Given the description of an element on the screen output the (x, y) to click on. 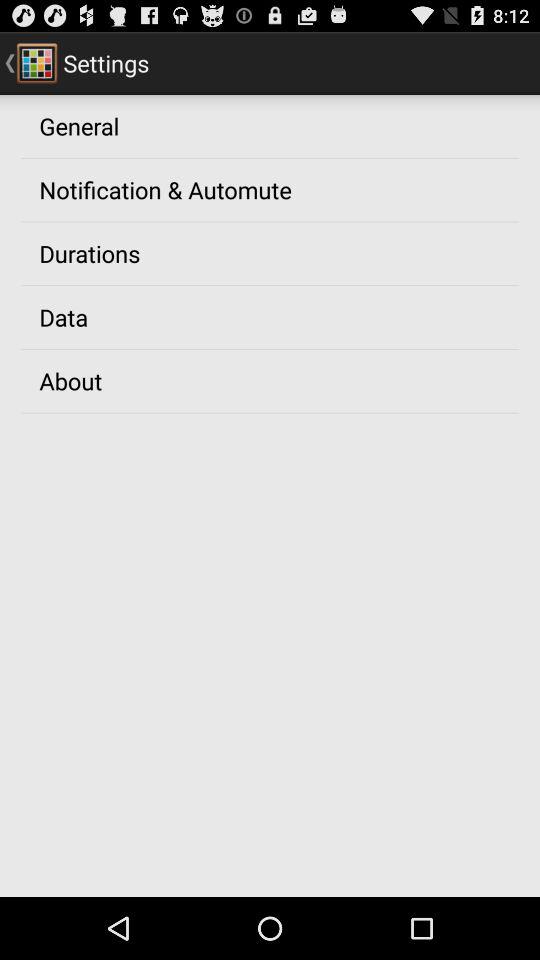
tap the app below general app (165, 189)
